Given the description of an element on the screen output the (x, y) to click on. 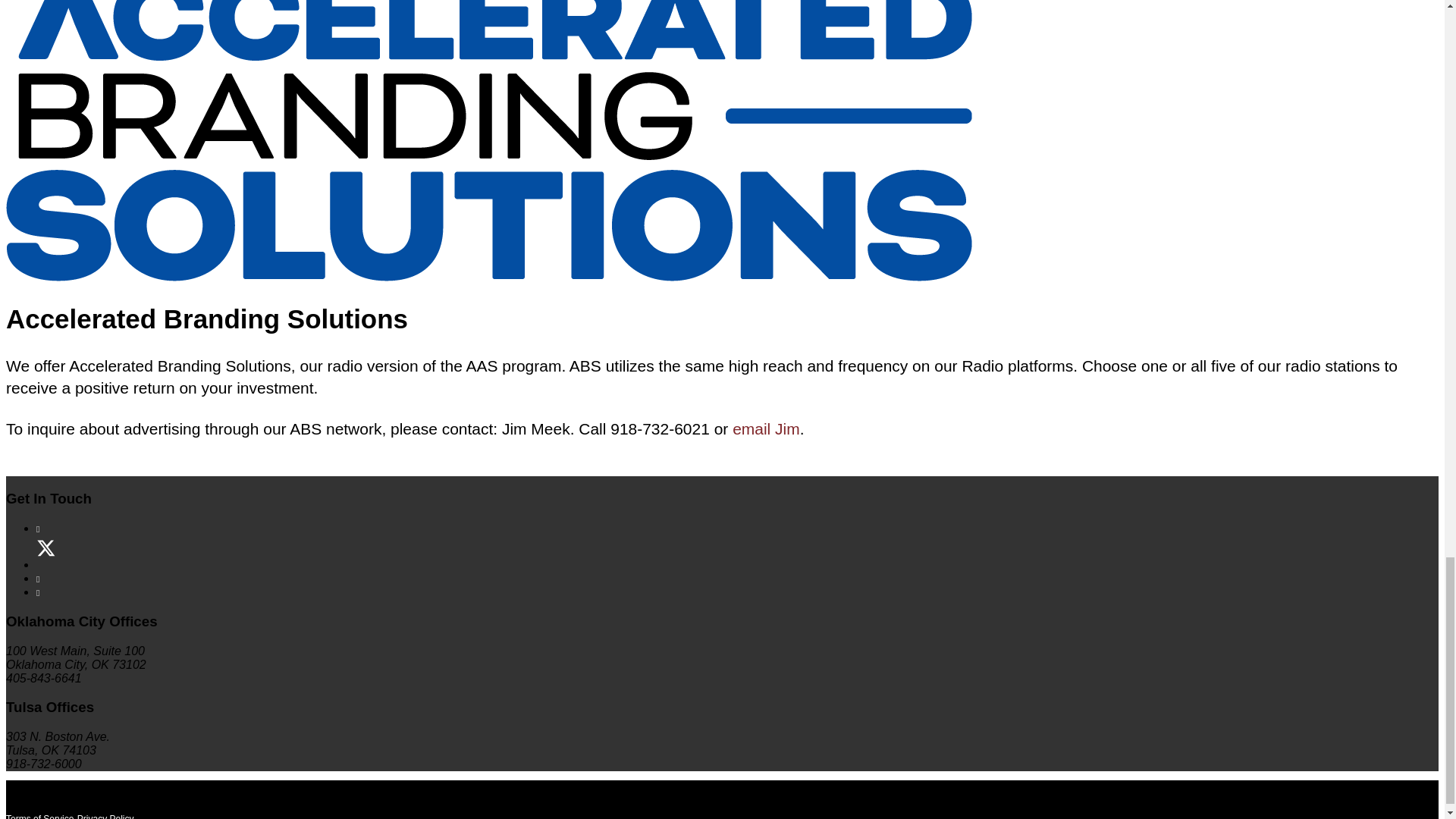
email Jim (765, 428)
Twitter (47, 565)
Twitter (47, 565)
